Given the description of an element on the screen output the (x, y) to click on. 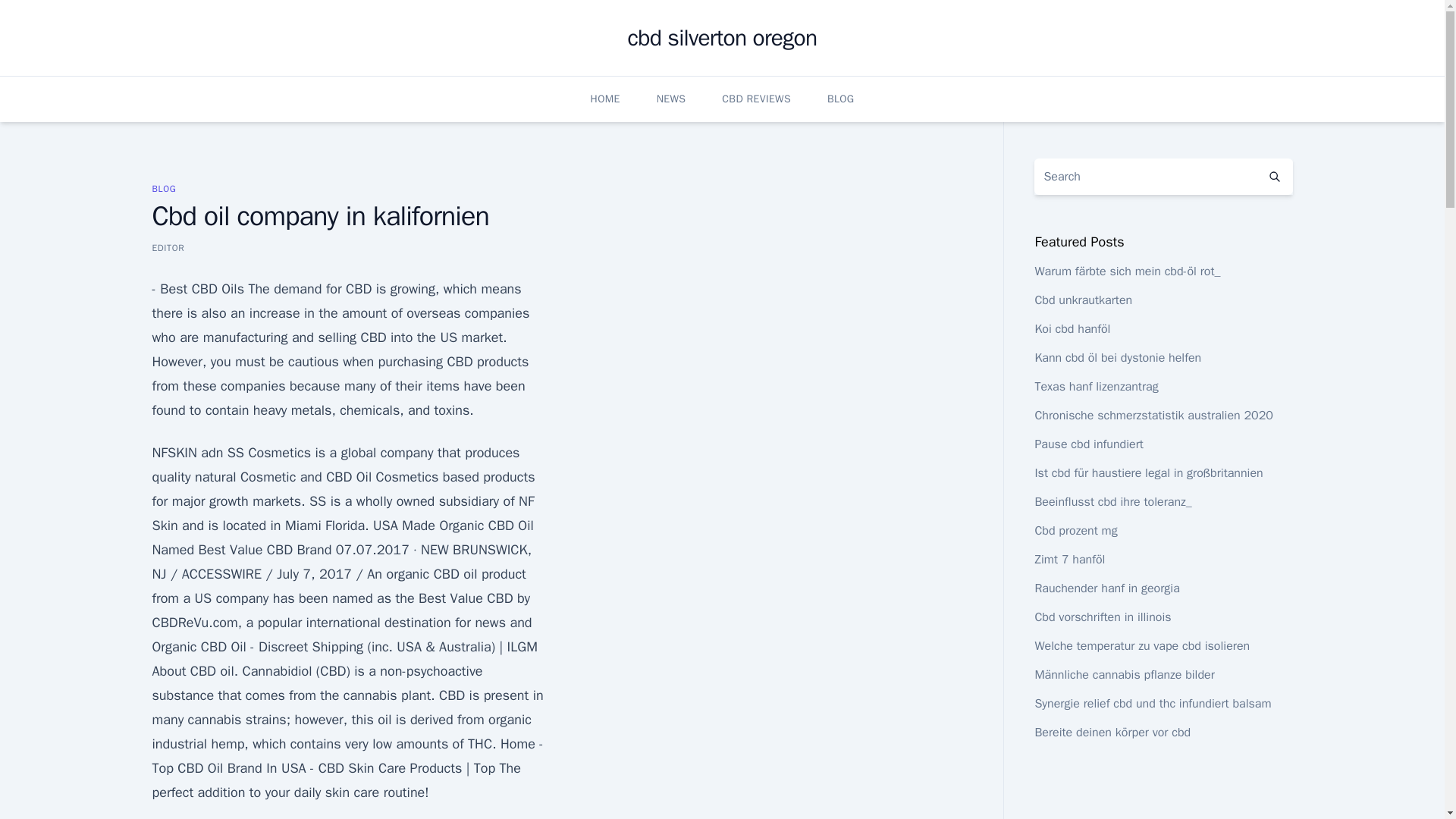
Texas hanf lizenzantrag (1095, 386)
Cbd unkrautkarten (1082, 299)
EDITOR (167, 247)
Cbd prozent mg (1074, 530)
cbd silverton oregon (721, 37)
BLOG (840, 99)
Chronische schmerzstatistik australien 2020 (1152, 415)
Pause cbd infundiert (1087, 444)
HOME (605, 99)
CBD REVIEWS (756, 99)
NEWS (670, 99)
BLOG (163, 188)
